Given the description of an element on the screen output the (x, y) to click on. 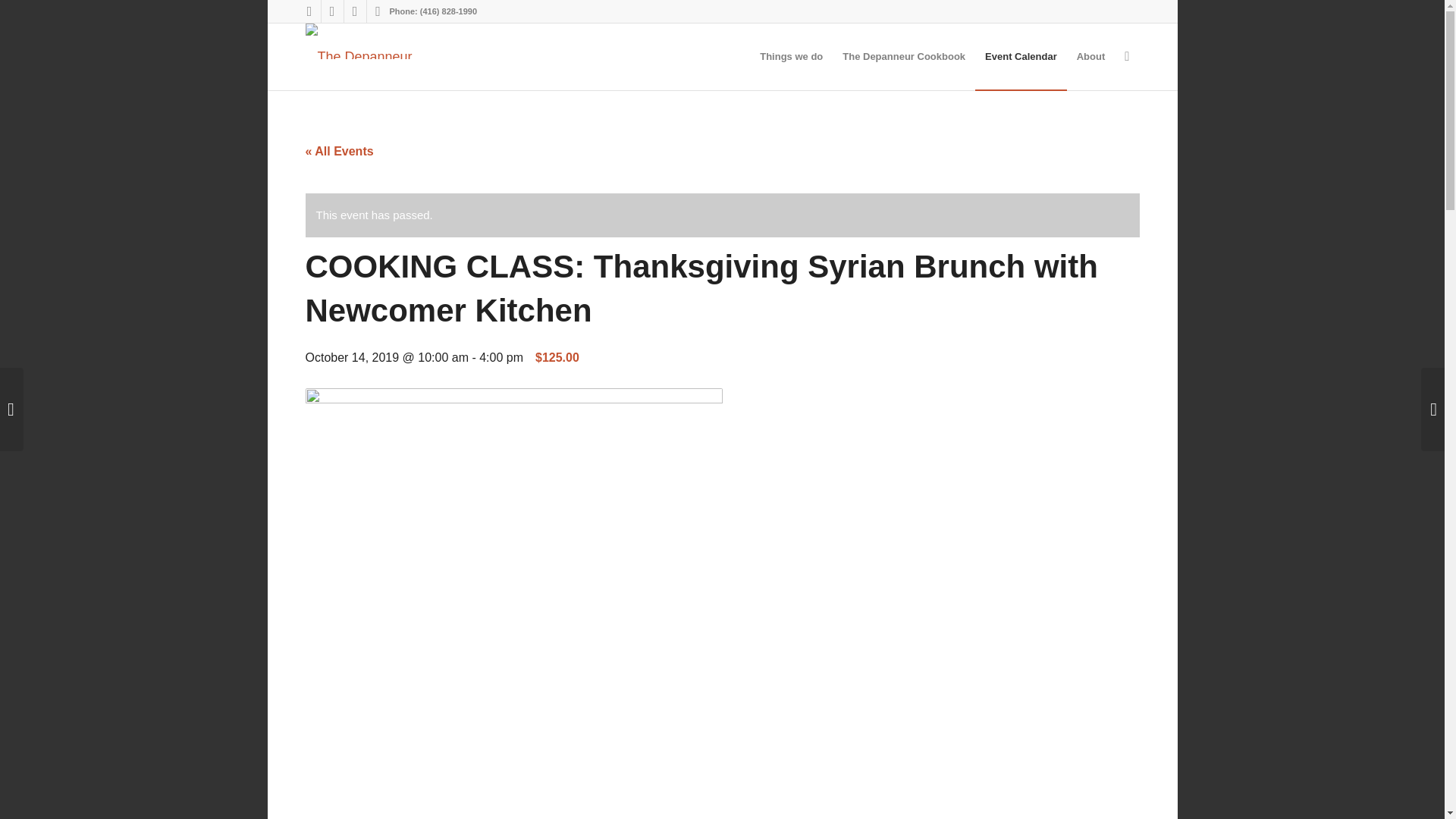
Things we do (790, 56)
Twitter (354, 11)
Mail (378, 11)
Instagram (332, 11)
Facebook (309, 11)
